Given the description of an element on the screen output the (x, y) to click on. 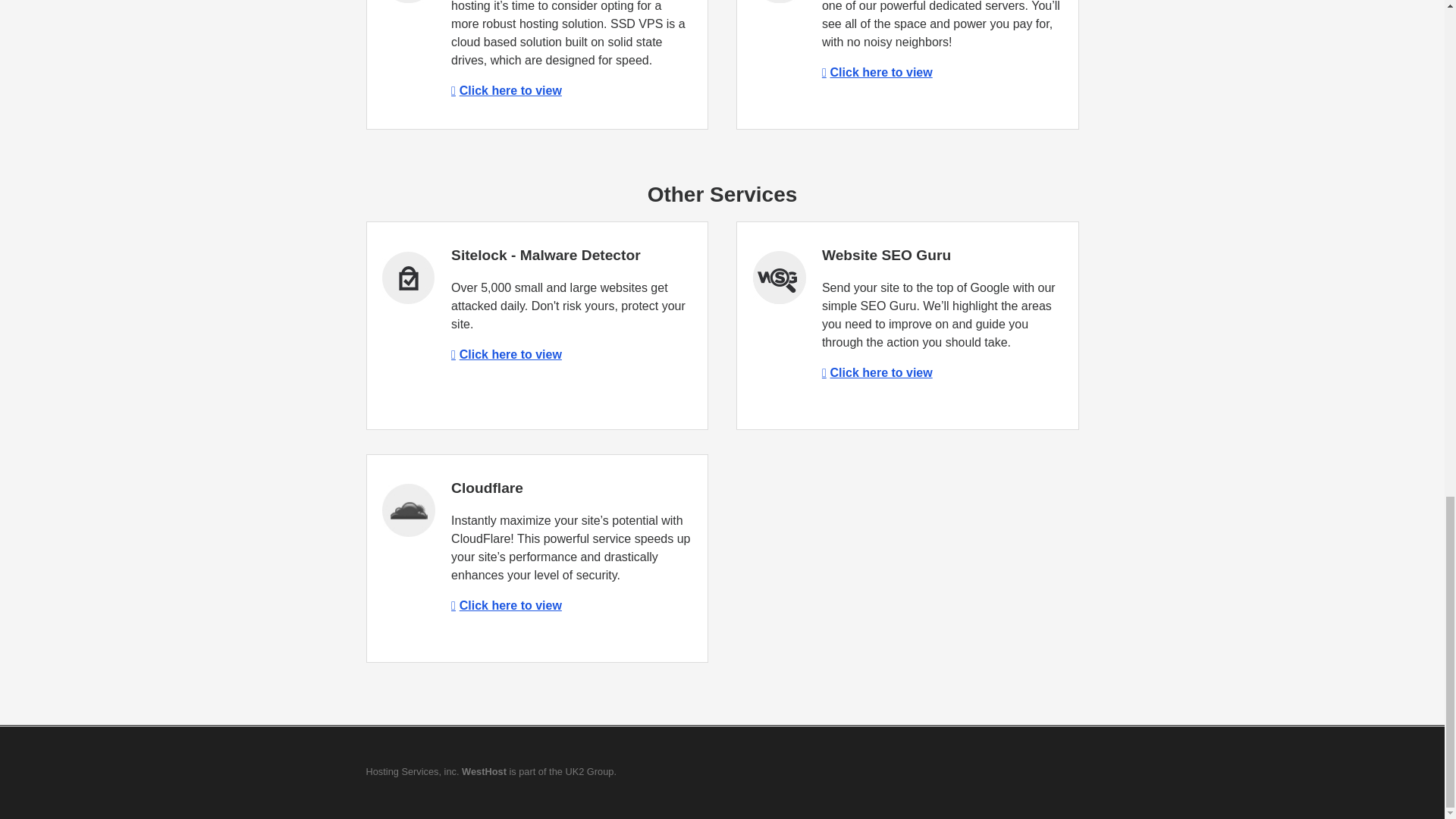
WestHost (483, 771)
Click here to view (506, 90)
Click here to view (877, 372)
Click here to view (877, 72)
Click here to view (506, 354)
Click here to view (506, 604)
